Given the description of an element on the screen output the (x, y) to click on. 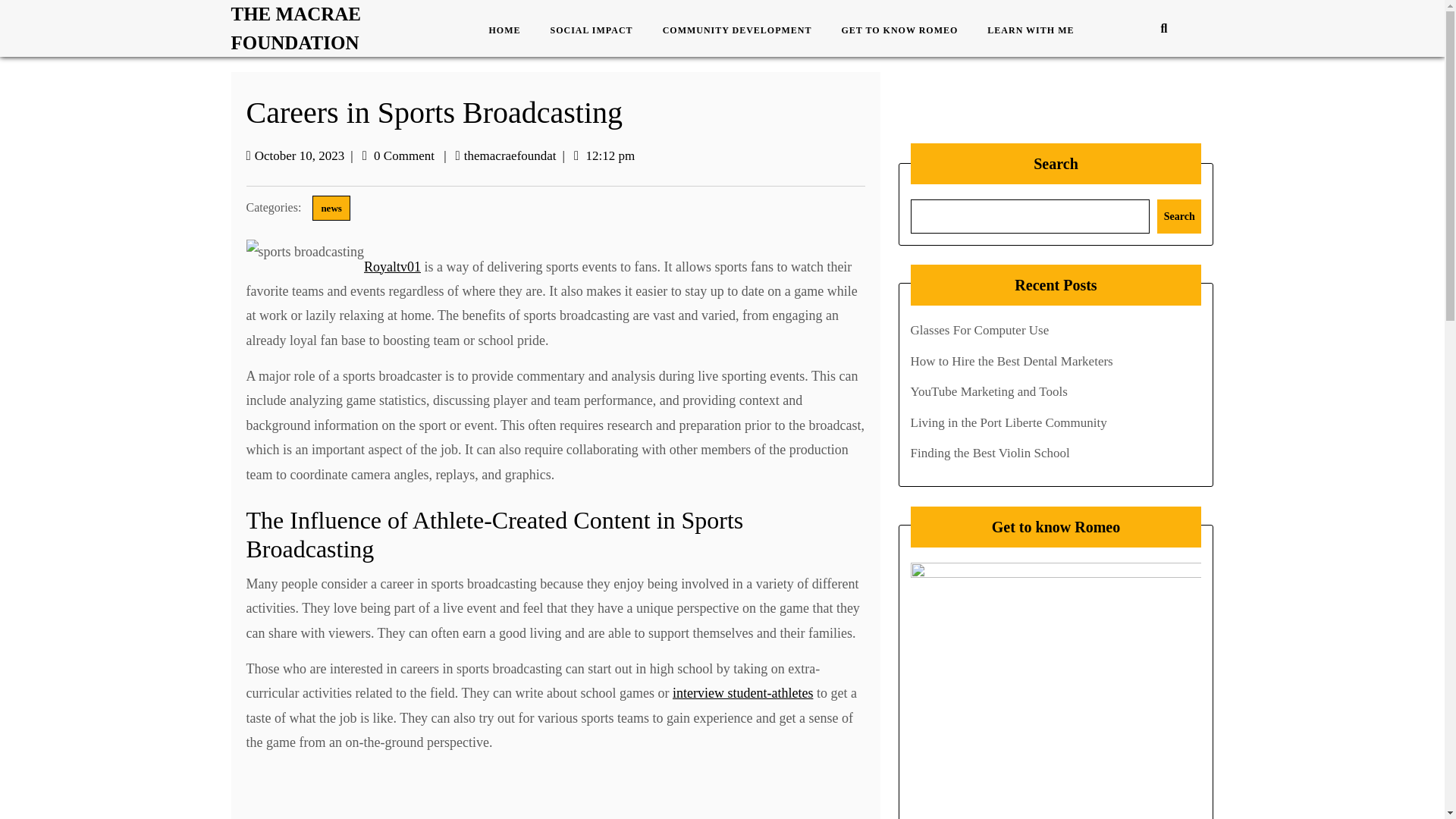
SOCIAL IMPACT (597, 30)
Living in the Port Liberte Community (1008, 422)
How to Hire the Best Dental Marketers (1011, 360)
HOME (509, 30)
Glasses For Computer Use (979, 329)
YouTube Marketing and Tools (988, 391)
COMMUNITY DEVELOPMENT (743, 30)
GET TO KNOW ROMEO (905, 30)
Finding the Best Violin School (989, 452)
themacraefoundat (510, 155)
